Given the description of an element on the screen output the (x, y) to click on. 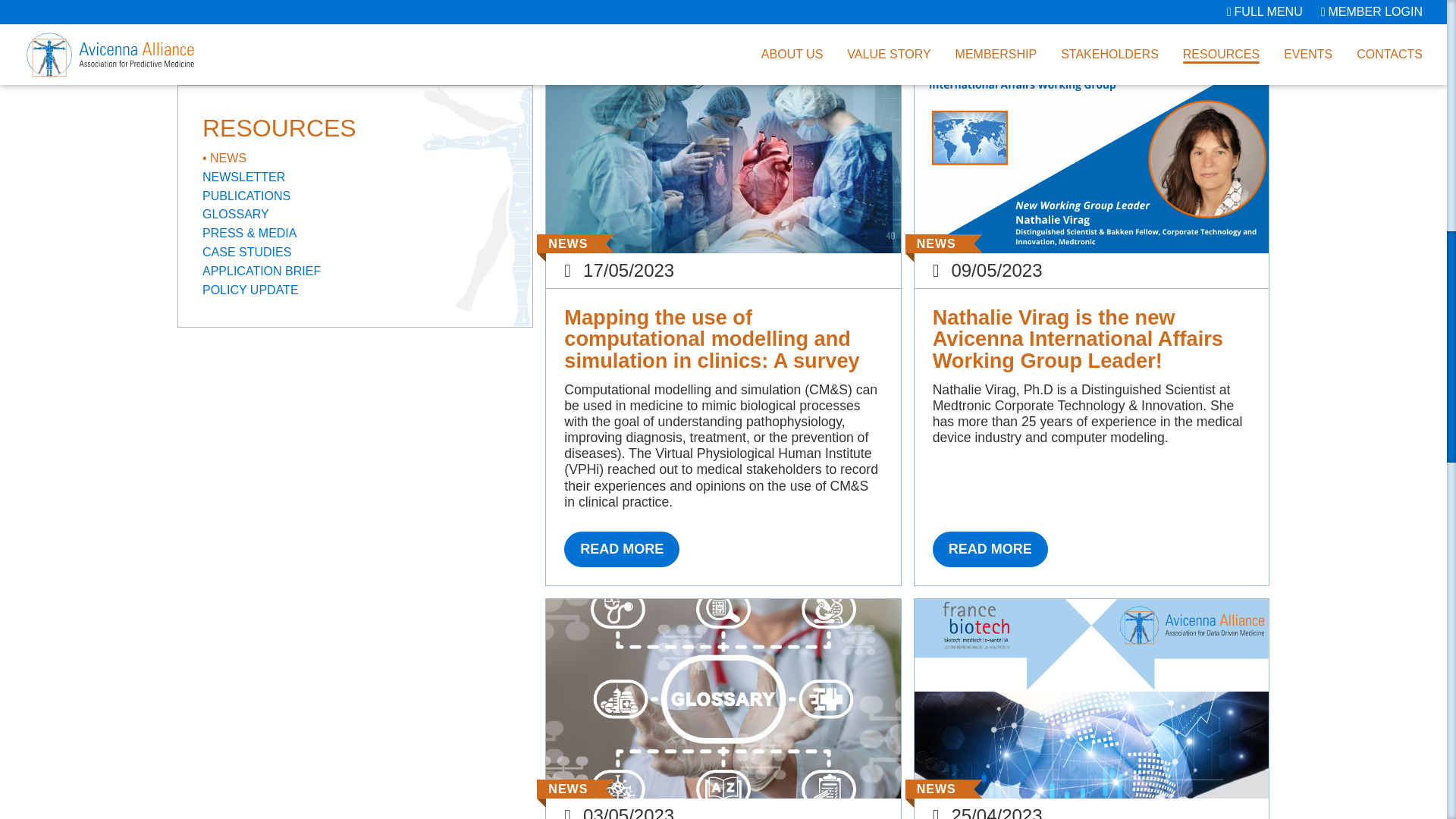
Welcome to our new member MDsim! (990, 11)
